Given the description of an element on the screen output the (x, y) to click on. 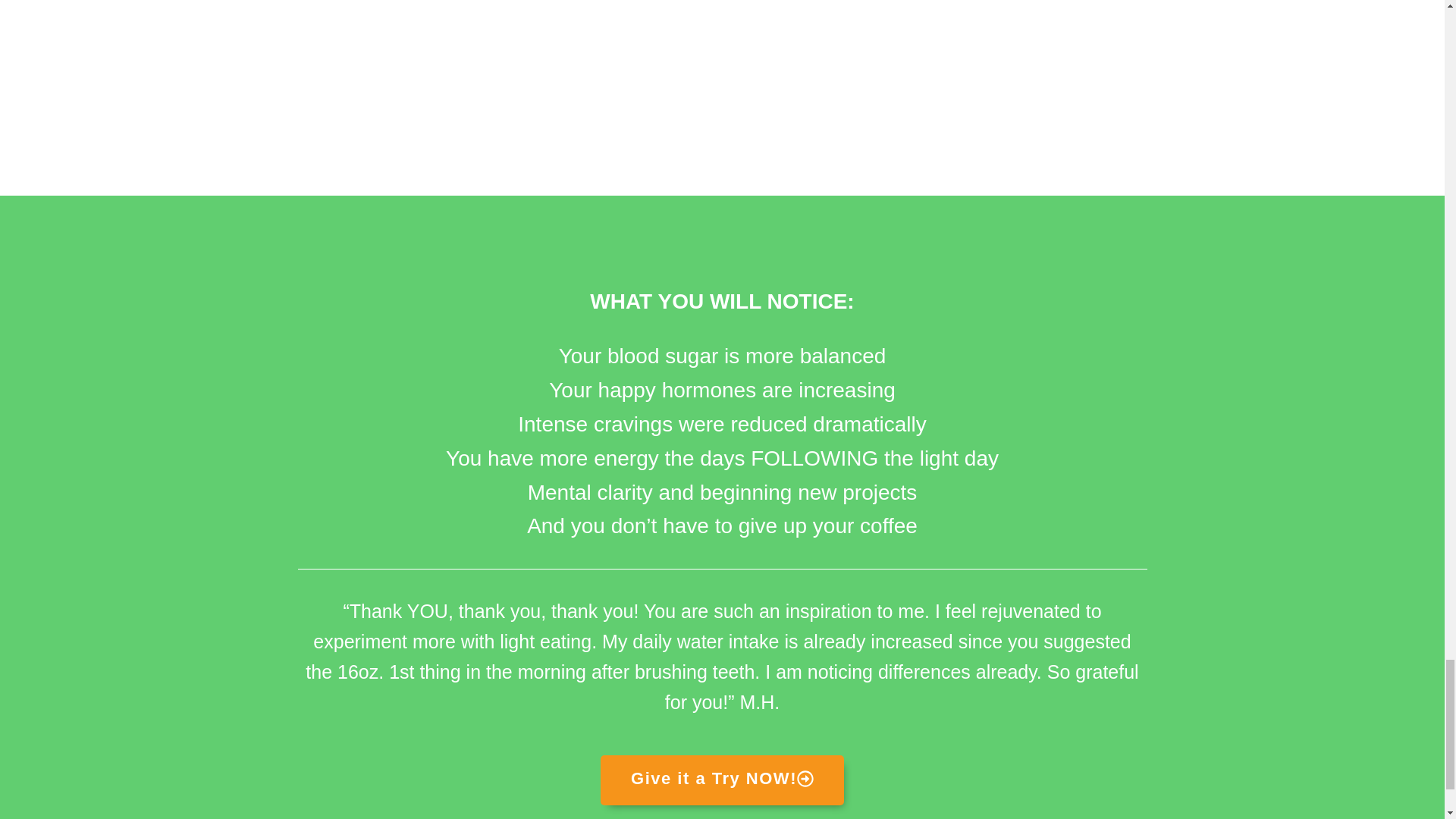
Give it a Try NOW! (721, 780)
